Given the description of an element on the screen output the (x, y) to click on. 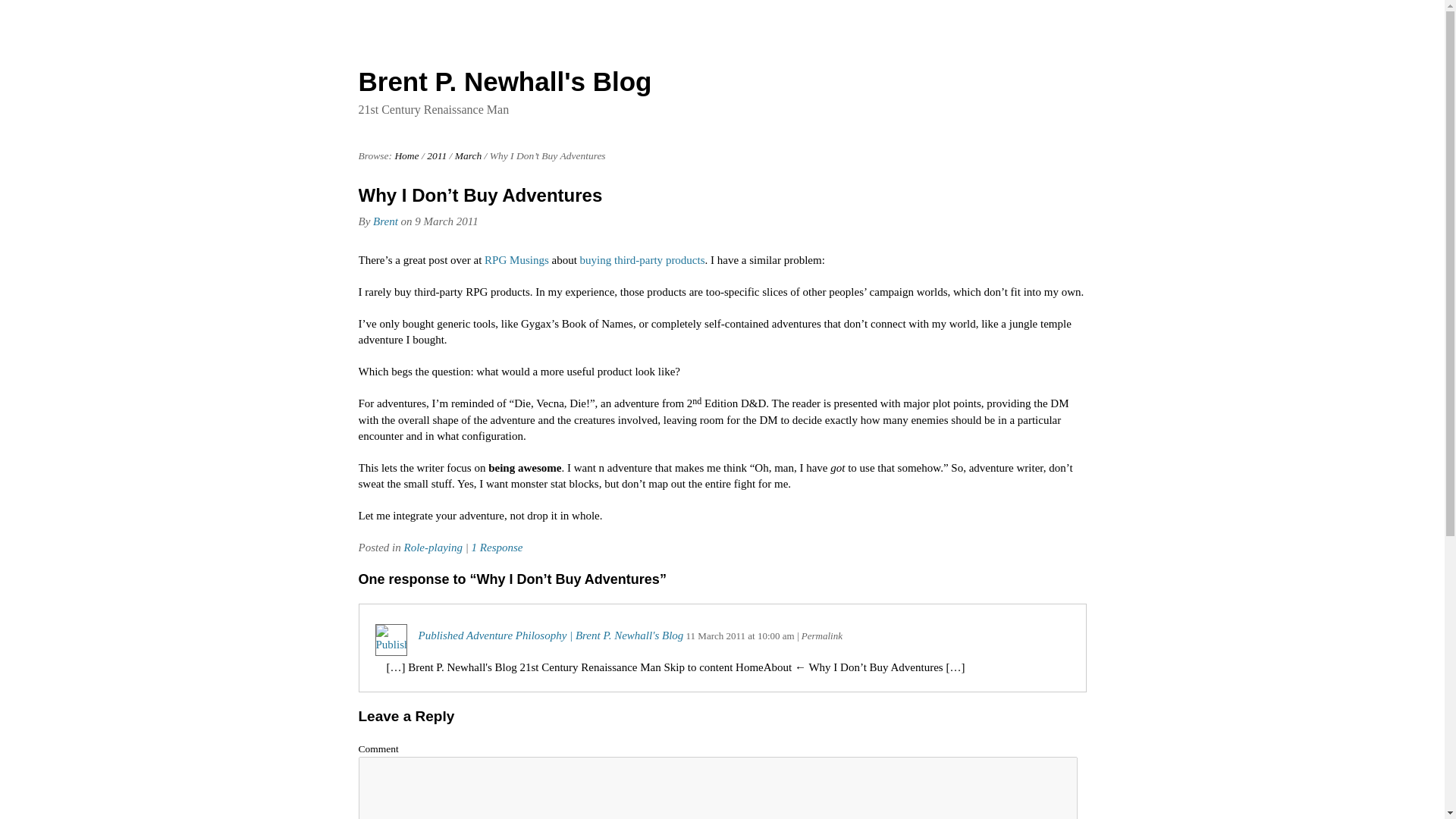
March (467, 155)
Friday, March 11th, 2011, 10:00 am (715, 635)
Wednesday, March 9th, 2011, 1:49 pm (445, 221)
Brent P. Newhall's Blog (504, 81)
Role-playing (432, 547)
Brent (384, 221)
1 Response (496, 547)
Permalink (822, 635)
March 2011 (467, 155)
buying third-party products (641, 259)
RPG Musings (516, 259)
Brent P. Newhall's Blog (504, 81)
2011 (436, 155)
Brent P. Newhall's Blog (406, 155)
Permalink to comment 55 (822, 635)
